Given the description of an element on the screen output the (x, y) to click on. 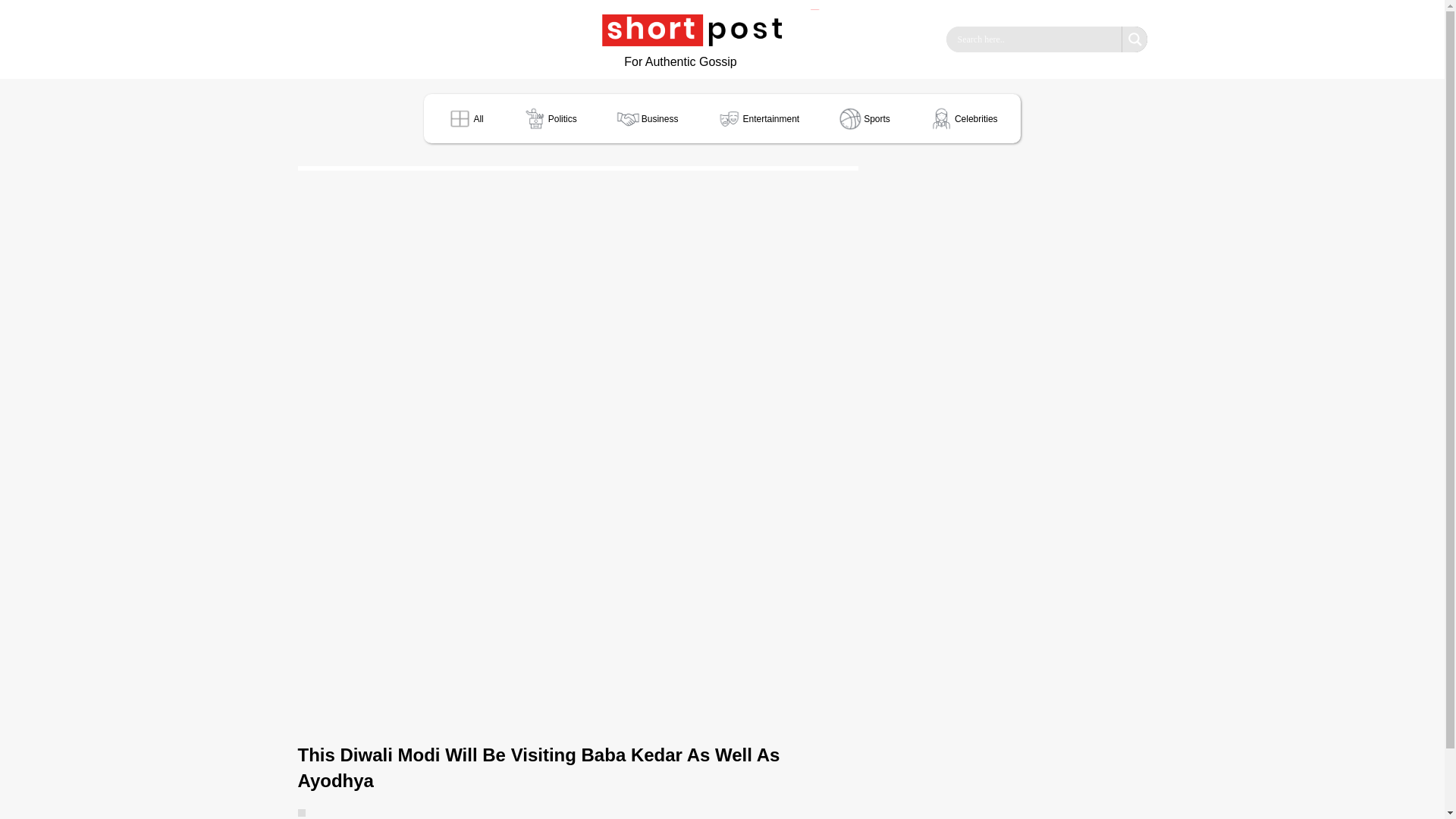
Business (646, 118)
Entertainment (756, 118)
Sports (863, 118)
Celebrities (962, 118)
Politics (549, 118)
All (463, 118)
